Given the description of an element on the screen output the (x, y) to click on. 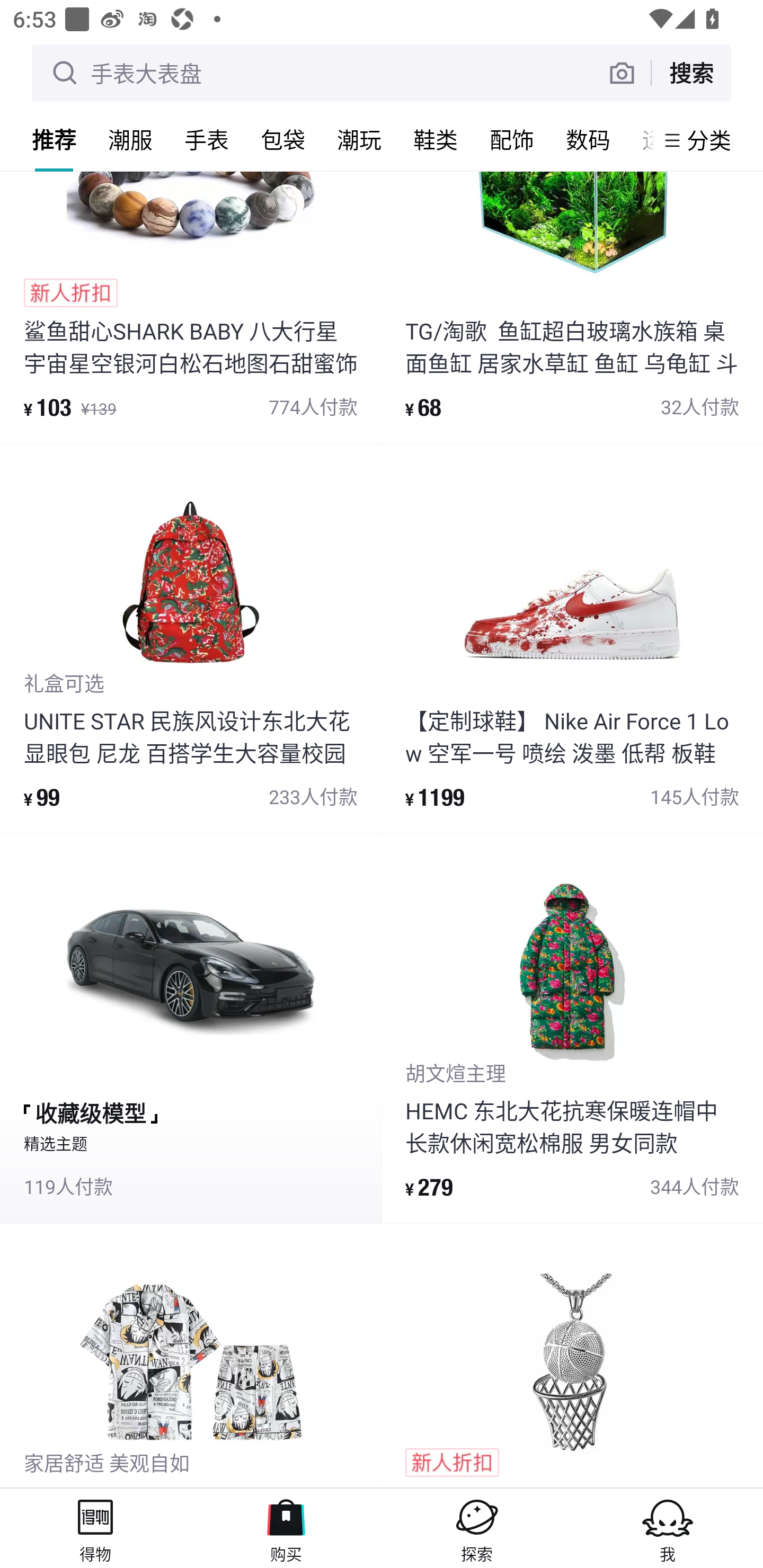
搜索 (690, 72)
推荐 (54, 139)
潮服 (130, 139)
手表 (206, 139)
包袋 (282, 139)
潮玩 (359, 139)
鞋类 (435, 139)
配饰 (511, 139)
数码 (588, 139)
分类 (708, 139)
收藏级模型 精选主题 119人付款 (190, 1028)
product_item 火猴FireMonkey 篮球系列进框创
意街潮 项链 男女同款情侣款 (572, 1355)
得物 (95, 1528)
购买 (285, 1528)
探索 (476, 1528)
我 (667, 1528)
